Given the description of an element on the screen output the (x, y) to click on. 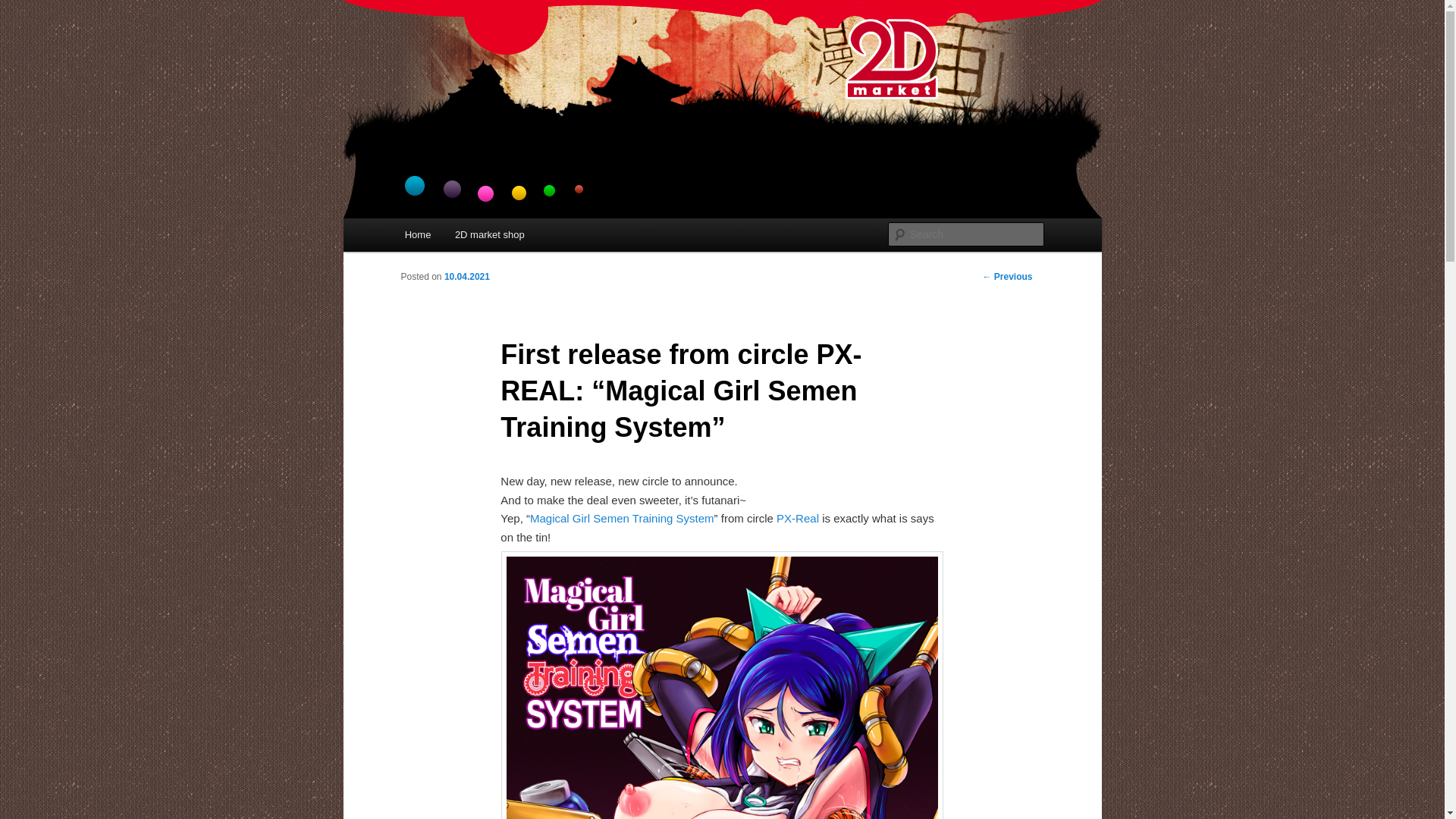
PX-Real Element type: text (797, 517)
2D Market Element type: text (454, 54)
Magical Girl Semen Training System Element type: text (622, 517)
Home Element type: text (417, 234)
10.04.2021 Element type: text (466, 276)
2D market shop Element type: text (489, 234)
Skip to secondary content Element type: text (479, 237)
Search Element type: text (24, 8)
Skip to primary content Element type: text (472, 237)
